Given the description of an element on the screen output the (x, y) to click on. 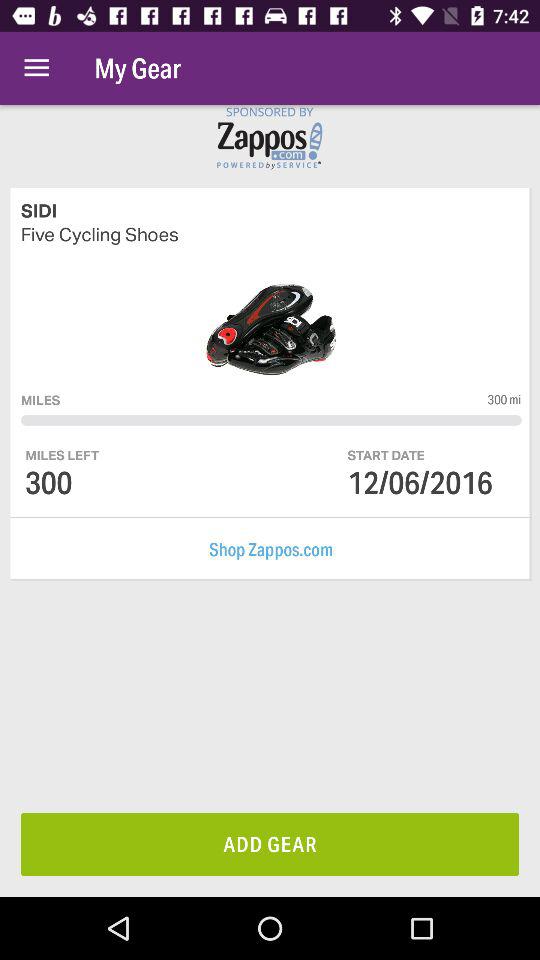
open icon next to the my gear item (36, 68)
